Given the description of an element on the screen output the (x, y) to click on. 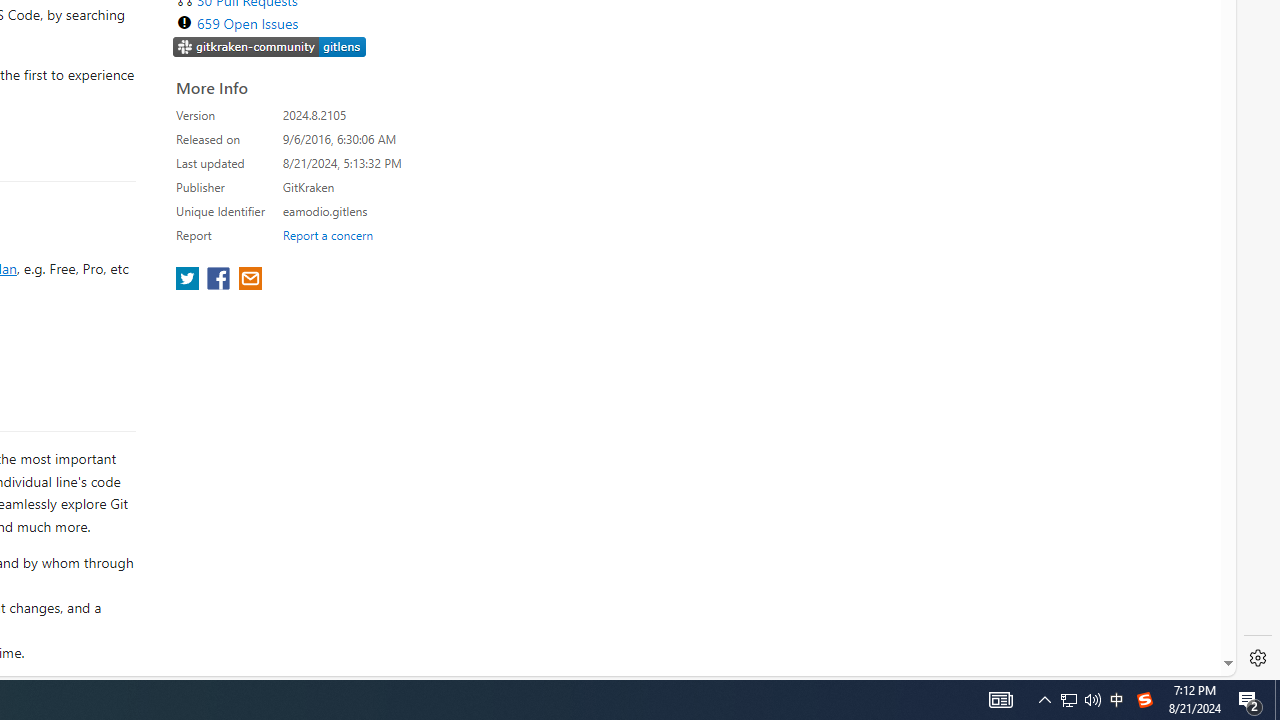
share extension on facebook (220, 280)
share extension on twitter (190, 280)
https://slack.gitkraken.com// (269, 46)
Report a concern (327, 234)
https://slack.gitkraken.com// (269, 48)
share extension on email (249, 280)
